Given the description of an element on the screen output the (x, y) to click on. 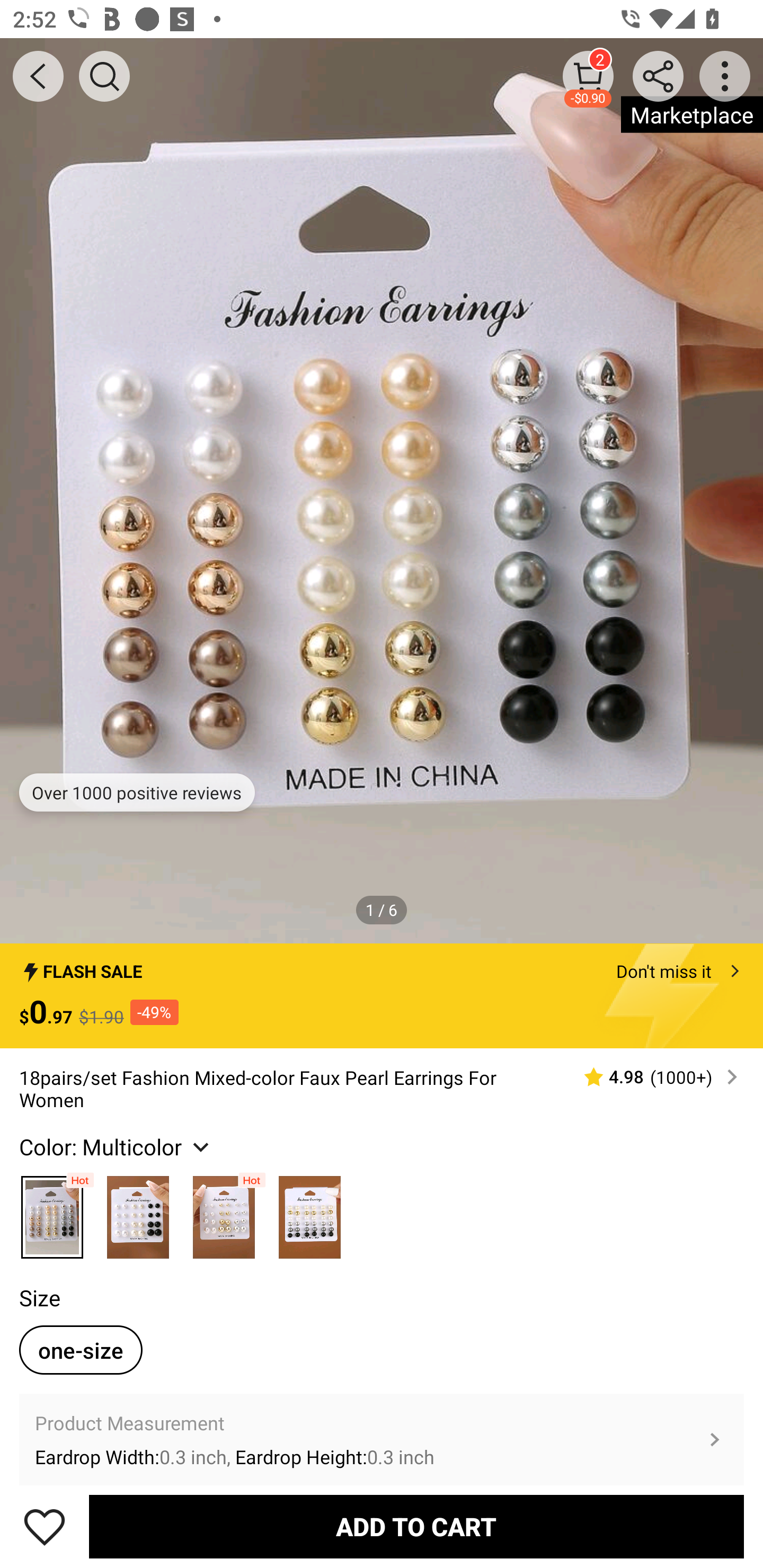
BACK (38, 75)
2 -$0.90 (588, 75)
1 / 6 (381, 909)
FLASH SALE Don't miss it $0.97 $1.90 -49% (381, 995)
FLASH SALE Don't miss it (381, 966)
4.98 (1000‎+) (653, 1076)
Color: Multicolor (116, 1146)
Multicolor (52, 1212)
Multicolor (138, 1212)
Multicolor (224, 1212)
Multicolor (309, 1212)
Size (39, 1297)
one-size one-sizeselected option (80, 1349)
ADD TO CART (416, 1526)
Save (44, 1526)
